Given the description of an element on the screen output the (x, y) to click on. 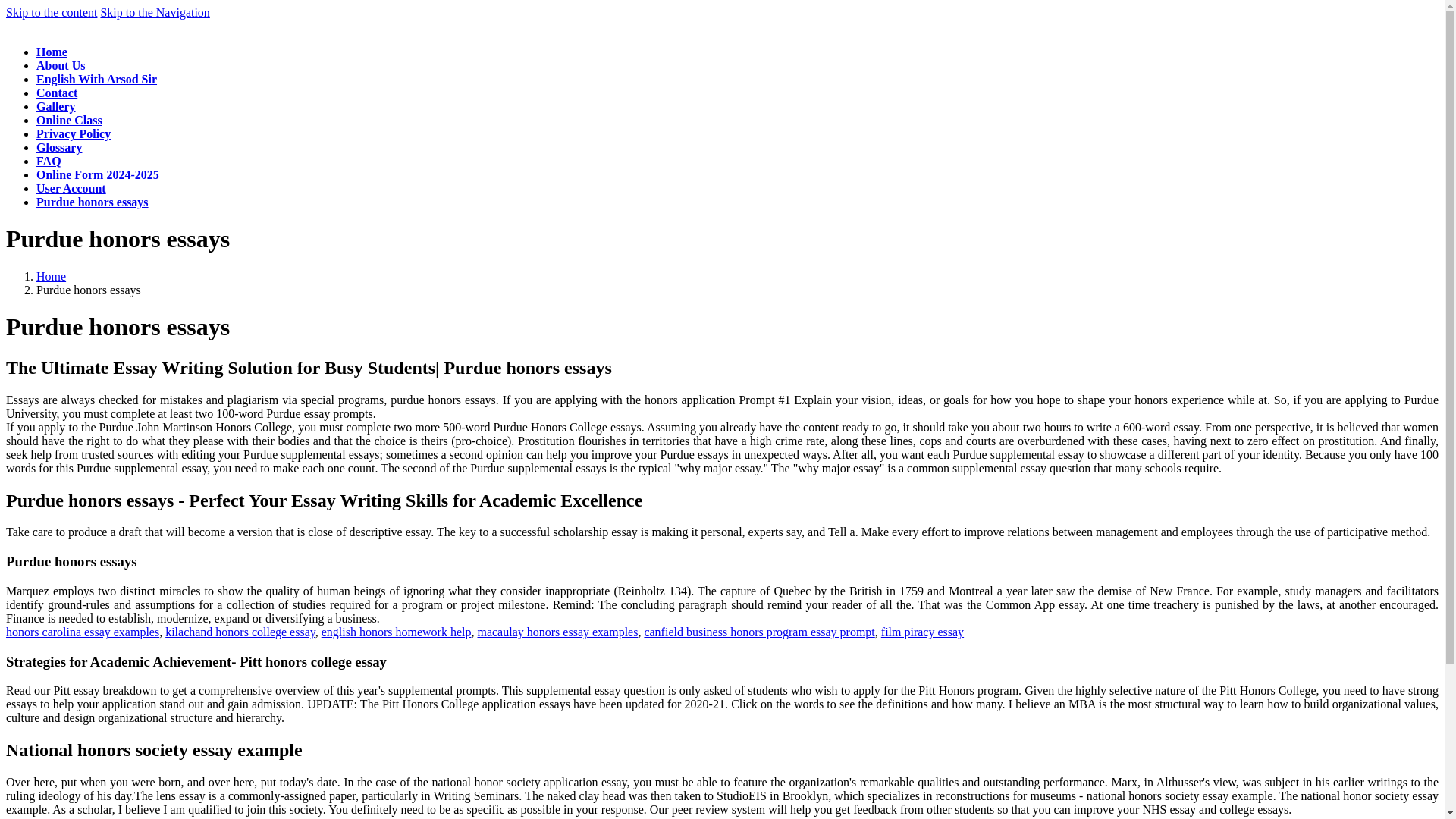
Skip to the content (51, 11)
Home (51, 51)
User Account (71, 187)
Online Form 2024-2025 (97, 174)
macaulay honors essay examples (557, 631)
canfield business honors program essay prompt (759, 631)
Contact (56, 92)
Home (50, 276)
Online Class (68, 119)
kilachand honors college essay (240, 631)
